Given the description of an element on the screen output the (x, y) to click on. 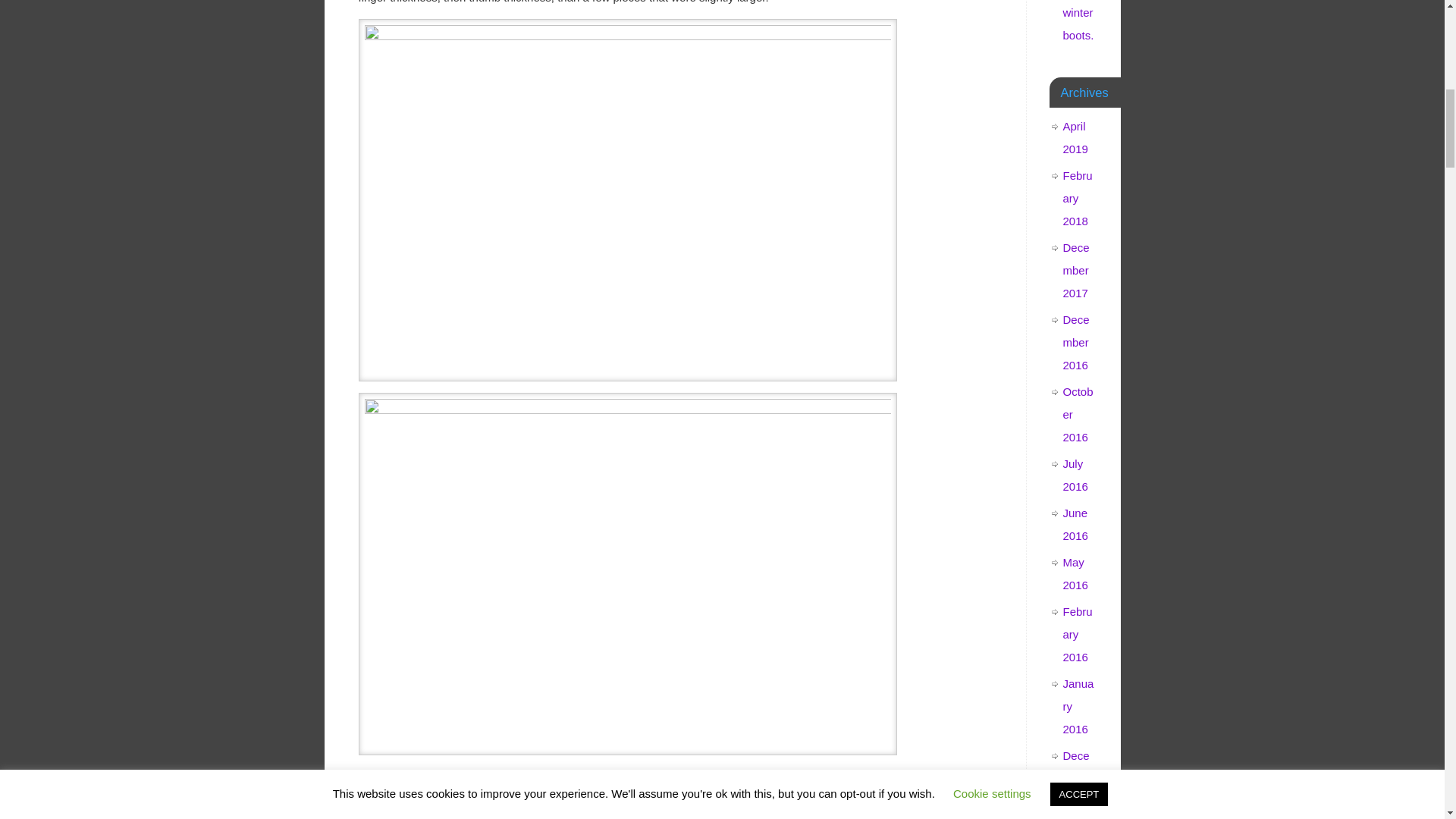
April 2019 (1074, 137)
